Given the description of an element on the screen output the (x, y) to click on. 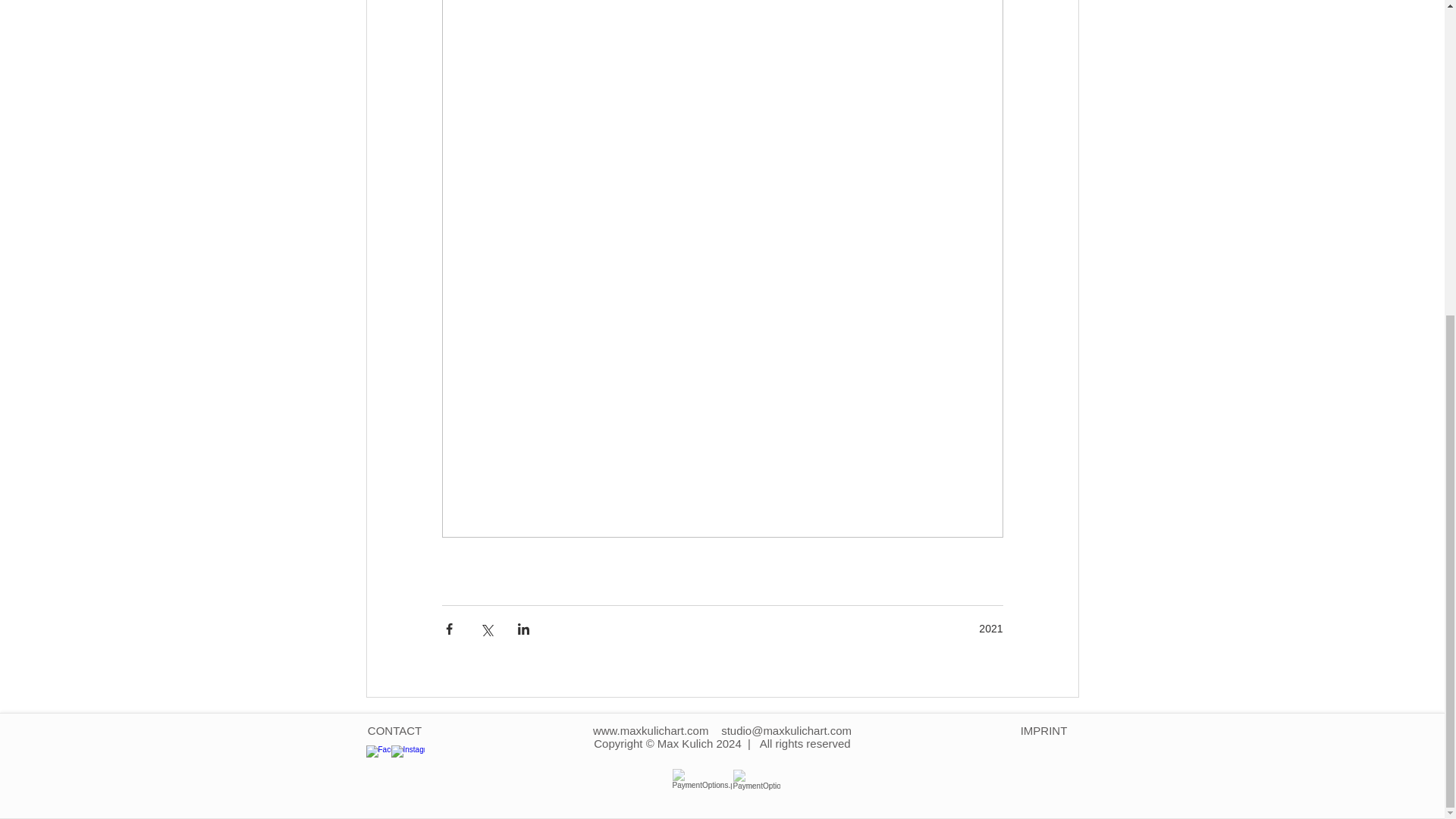
IMPRINT (1043, 730)
2021 (990, 628)
www.maxkulichart.com (650, 730)
CONTACT (395, 730)
